Given the description of an element on the screen output the (x, y) to click on. 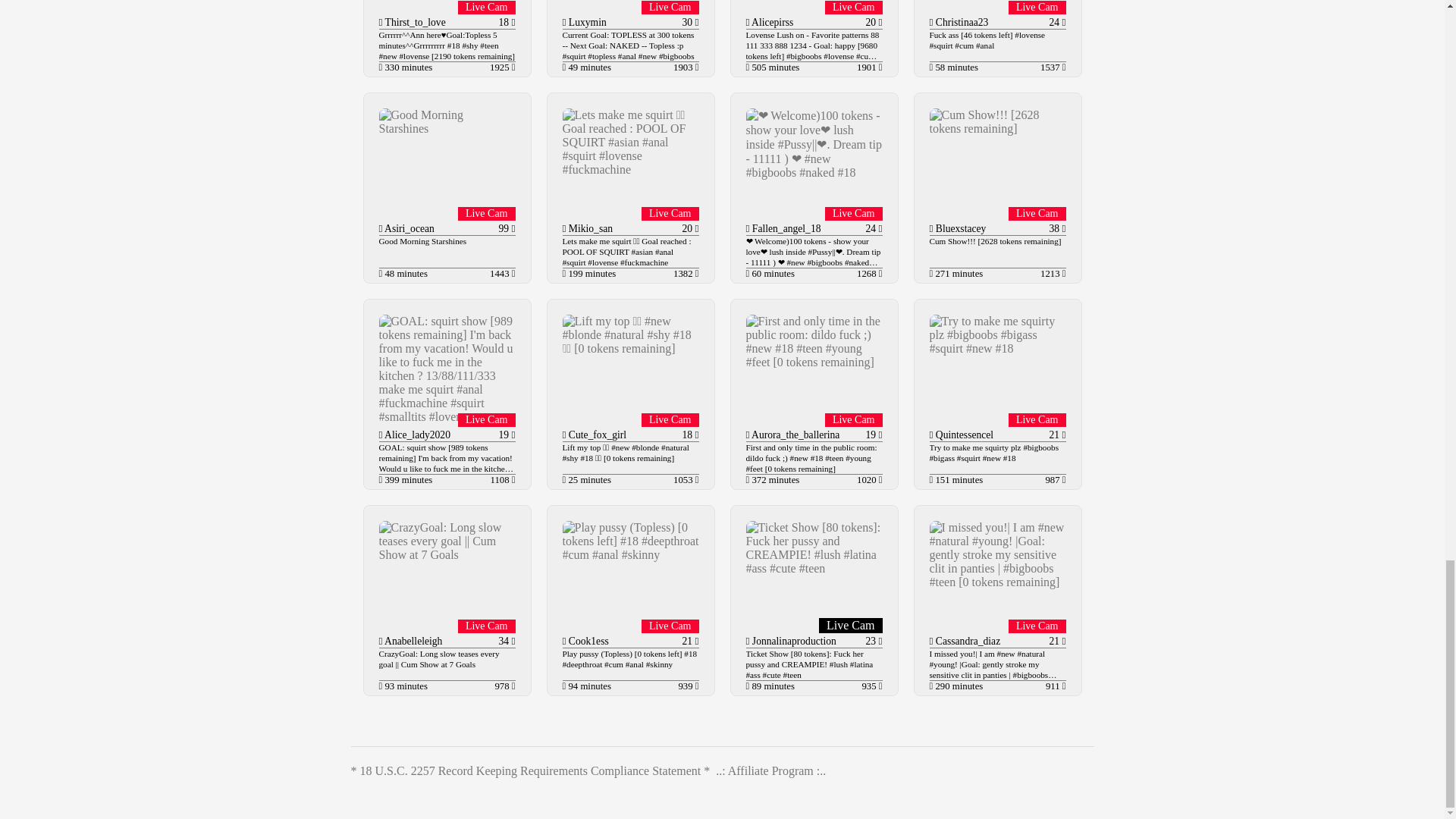
Luxymin (585, 21)
